Given the description of an element on the screen output the (x, y) to click on. 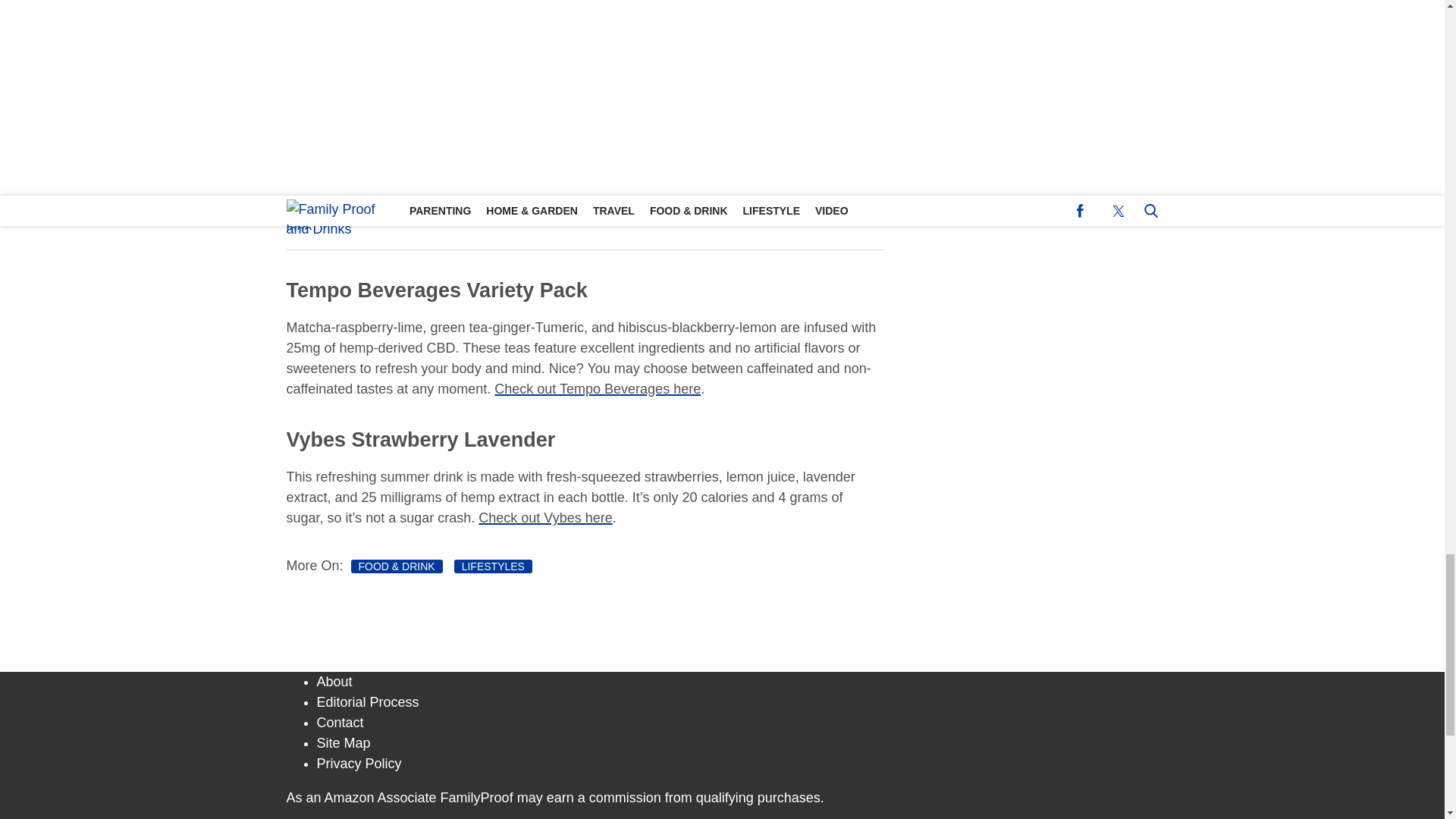
Check out Vybes here (545, 517)
Privacy Policy (359, 763)
Editorial Process (368, 702)
Check out Cann drinks here (721, 127)
Site Map (344, 743)
Check out Tempo Beverages here (597, 388)
Contact (340, 722)
12 Surprisingly Sugary Foods and Drinks (518, 208)
LIFESTYLES (493, 566)
